Given the description of an element on the screen output the (x, y) to click on. 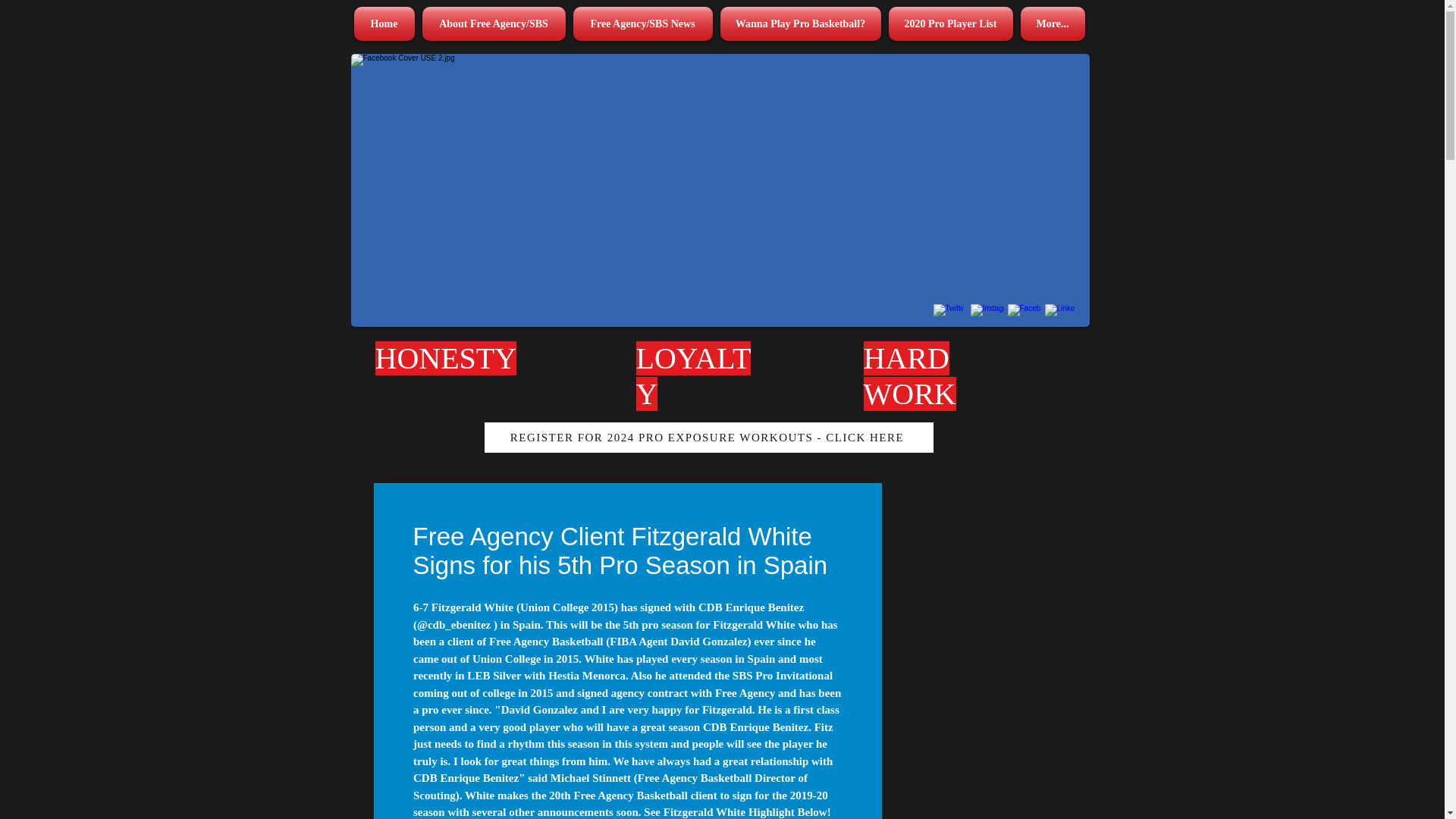
2020 Pro Player List (949, 23)
Wanna Play Pro Basketball? (799, 23)
Home (385, 23)
